Given the description of an element on the screen output the (x, y) to click on. 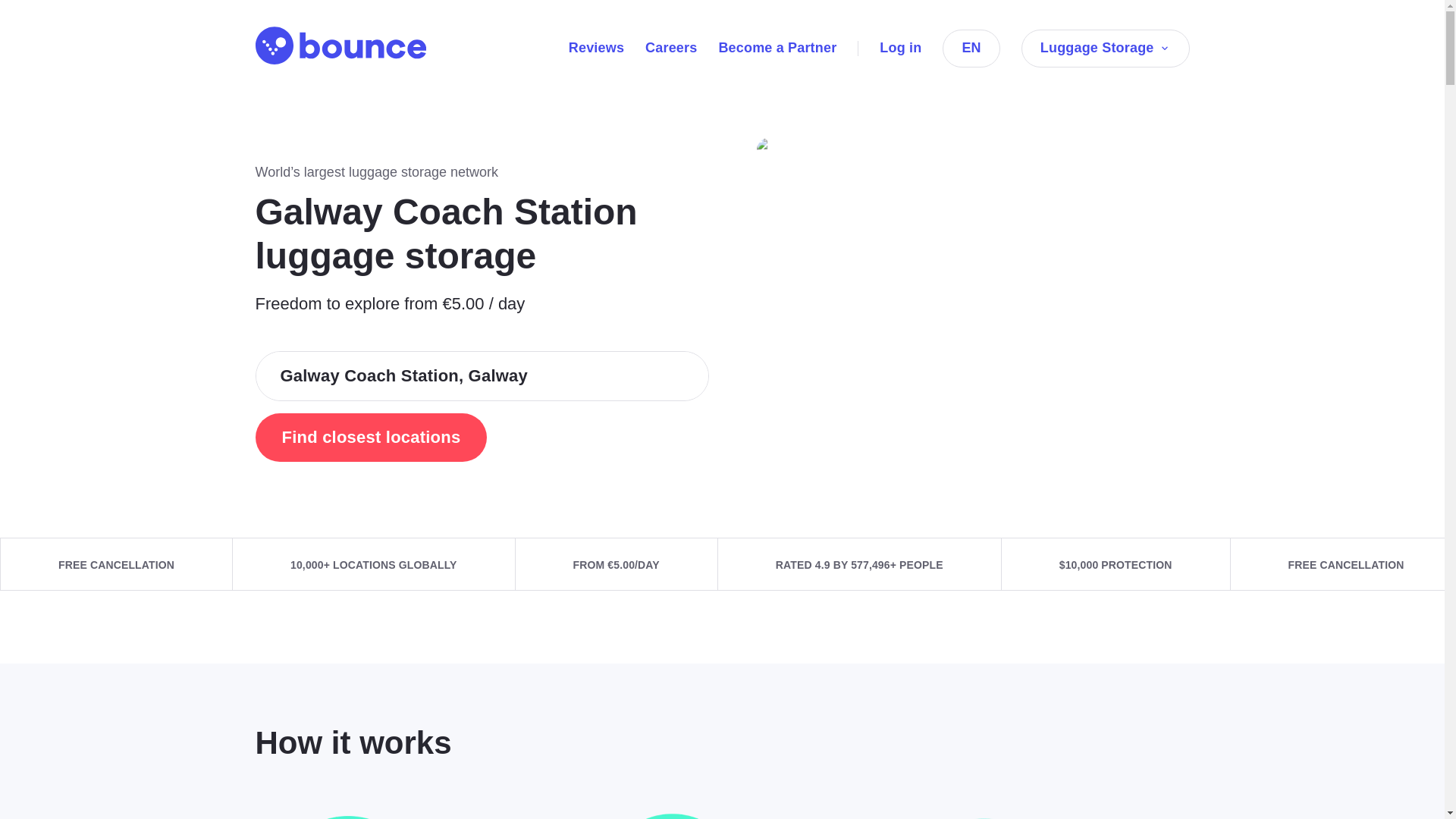
Luggage Storage (1105, 48)
EN (970, 48)
Bounce (339, 45)
Become a Partner (776, 47)
Careers (671, 47)
Log in (900, 47)
Galway Coach Station, Galway (481, 376)
Reviews (596, 47)
Find closest locations (370, 437)
